Given the description of an element on the screen output the (x, y) to click on. 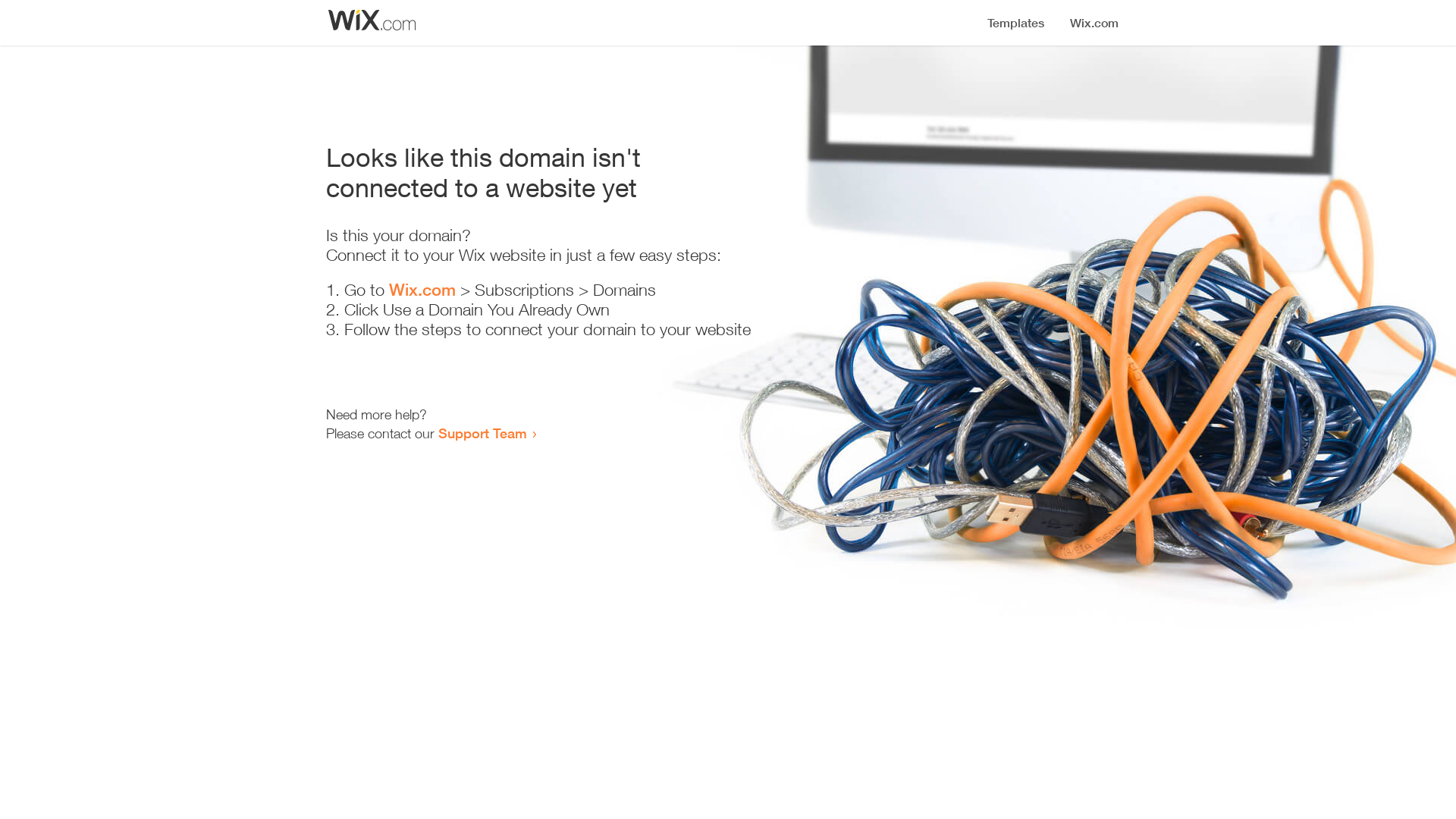
Wix.com Element type: text (422, 289)
Support Team Element type: text (482, 432)
